Given the description of an element on the screen output the (x, y) to click on. 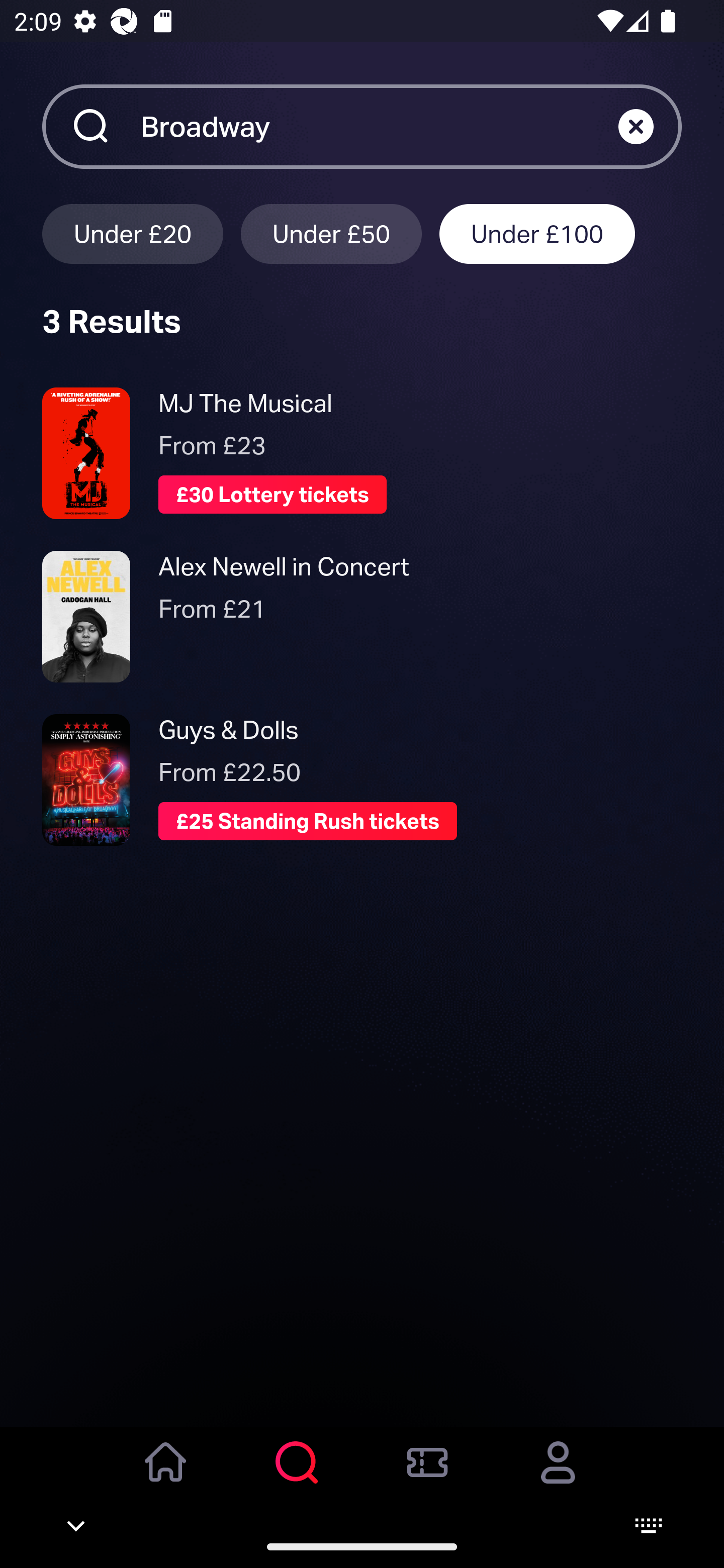
Broadway (379, 126)
Under £20 (131, 233)
Under £50 (331, 233)
Under £100 (536, 233)
Home (165, 1475)
Orders (427, 1475)
Account (558, 1475)
